Given the description of an element on the screen output the (x, y) to click on. 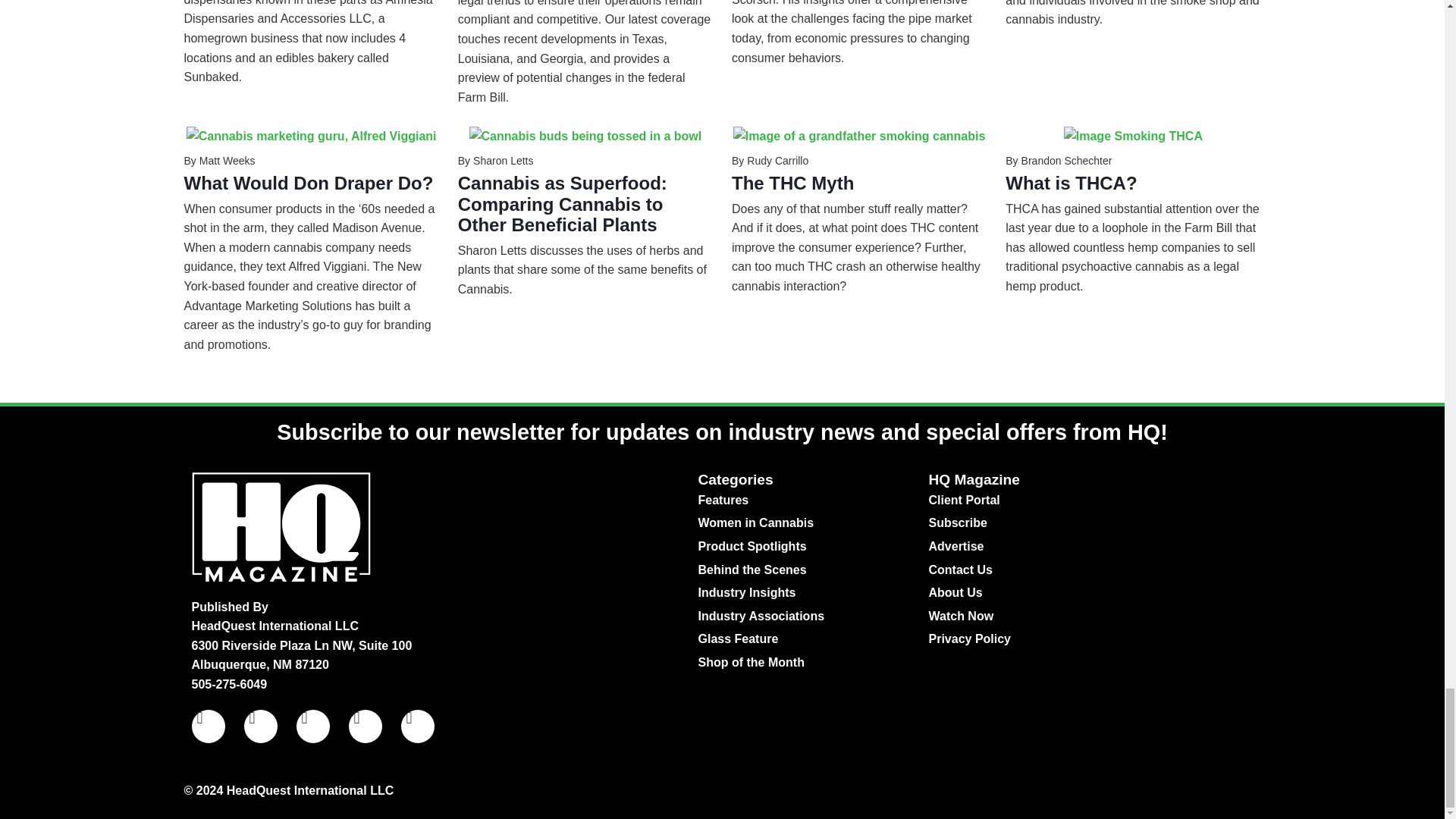
Alfred-Viggiani-Cover (311, 136)
what-is-thca (1133, 136)
Gramps-Edited (859, 136)
